Given the description of an element on the screen output the (x, y) to click on. 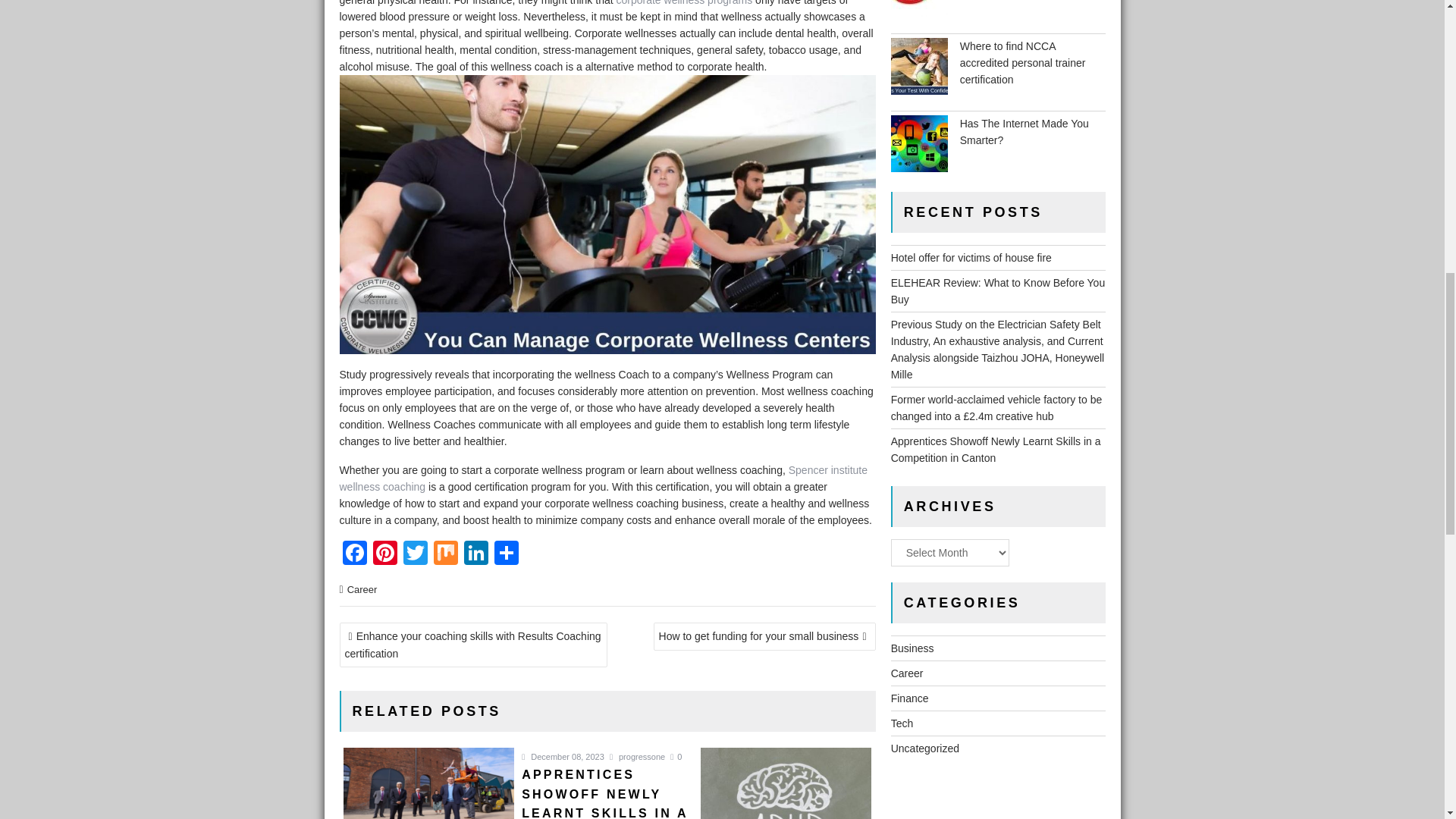
Twitter (415, 554)
Pinterest (384, 554)
How to get funding for your small business (764, 636)
Twitter (415, 554)
corporate wellness programs (683, 2)
Career (362, 589)
Spencer institute wellness coaching (603, 478)
LinkedIn (476, 554)
December 08, 2023 (562, 756)
Pinterest (384, 554)
progressone (637, 756)
Facebook (354, 554)
Facebook (354, 554)
